Given the description of an element on the screen output the (x, y) to click on. 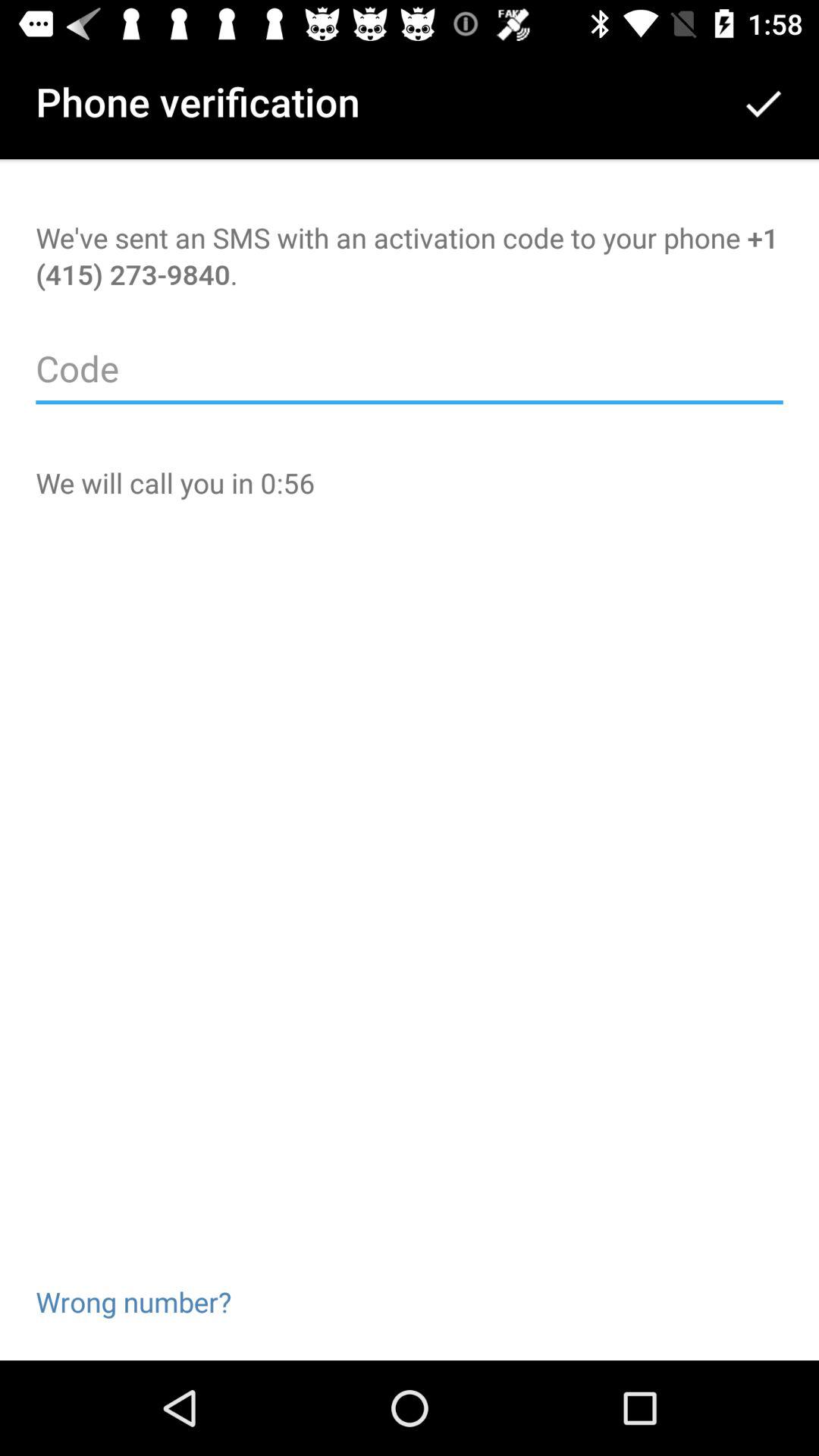
jump until wrong number? item (133, 1277)
